Given the description of an element on the screen output the (x, y) to click on. 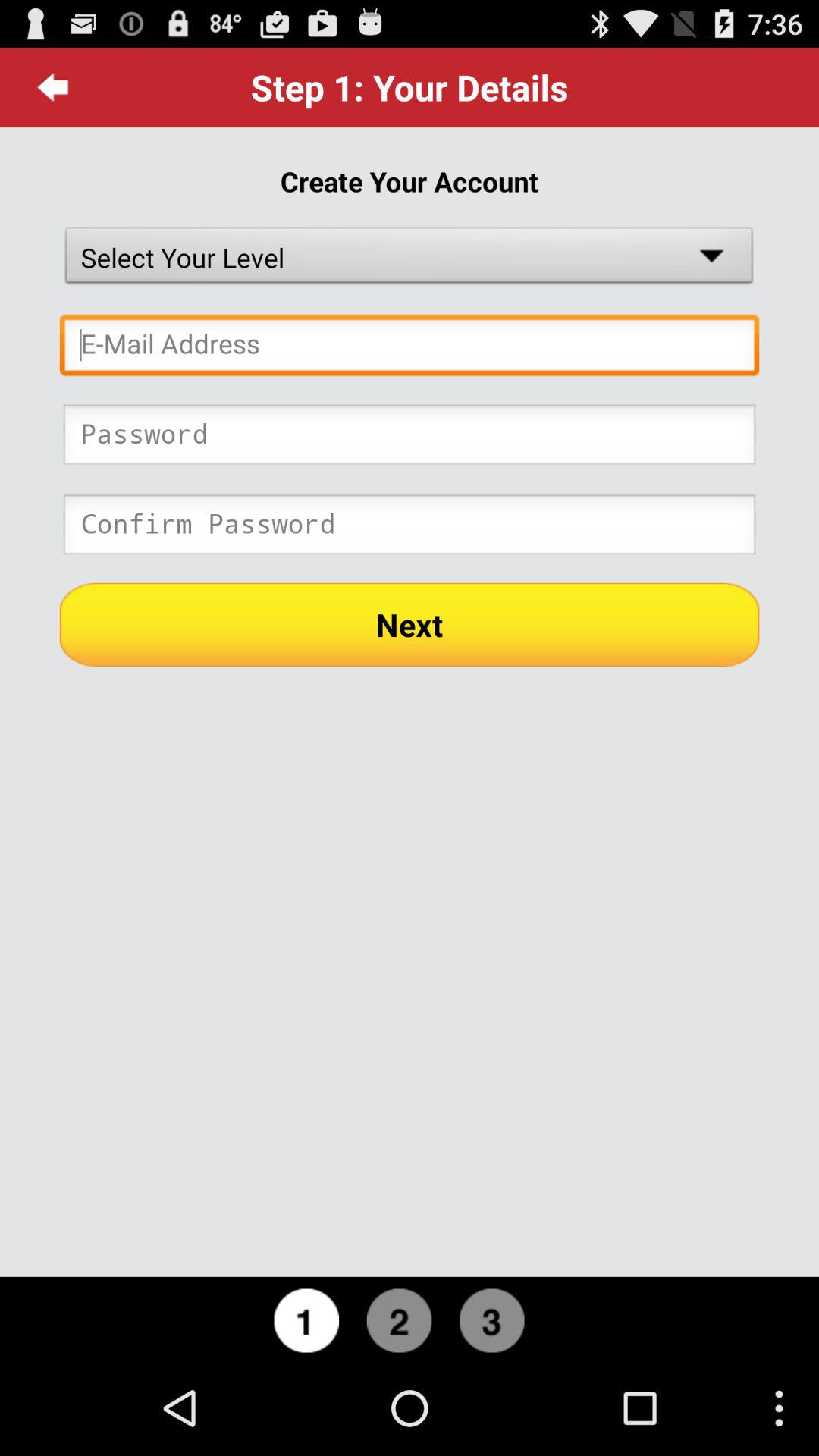
choose item next to step 1 your (53, 87)
